Given the description of an element on the screen output the (x, y) to click on. 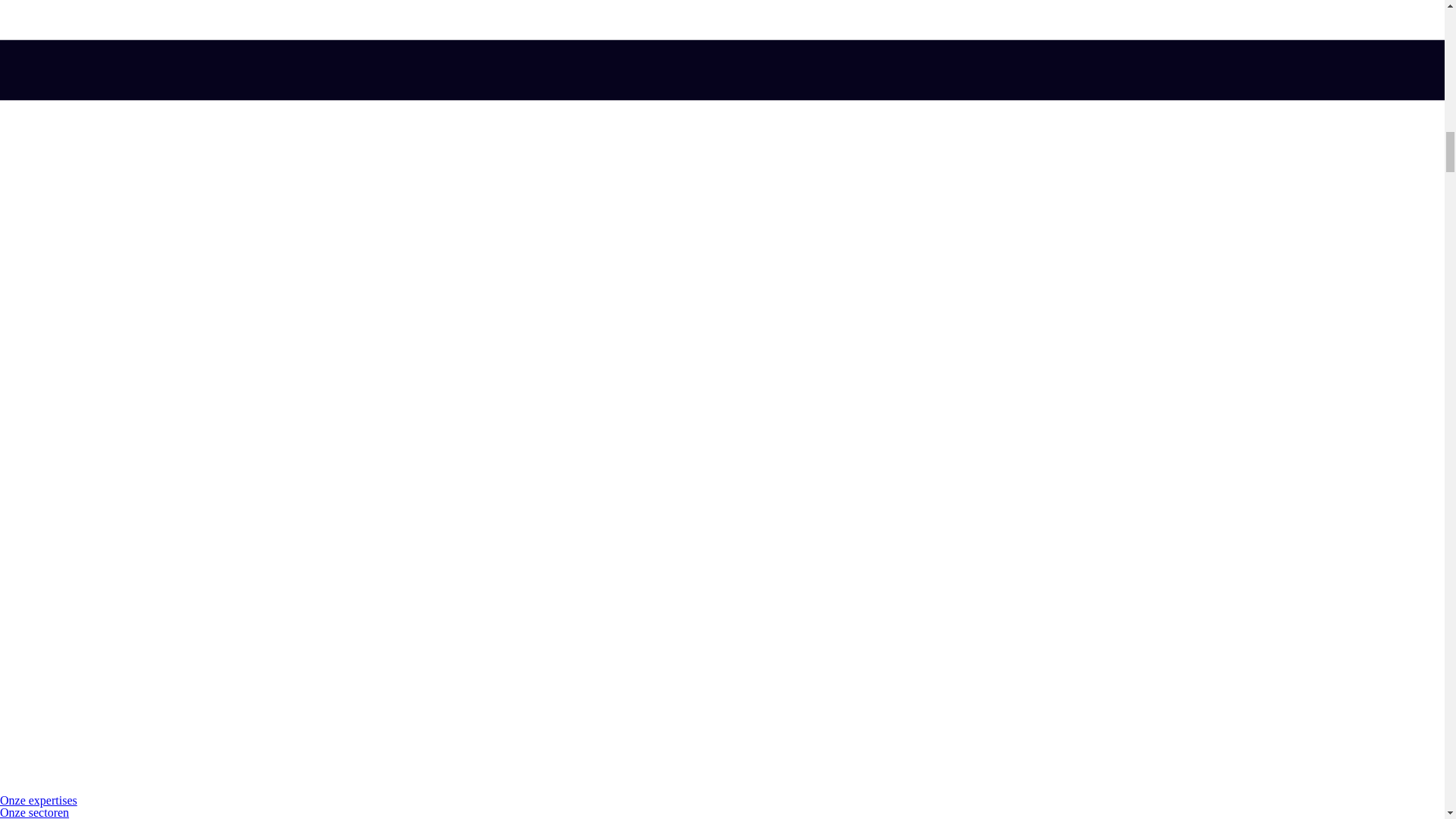
Medewerkers (32, 818)
Onze sectoren (34, 812)
Onze expertises (38, 799)
